Given the description of an element on the screen output the (x, y) to click on. 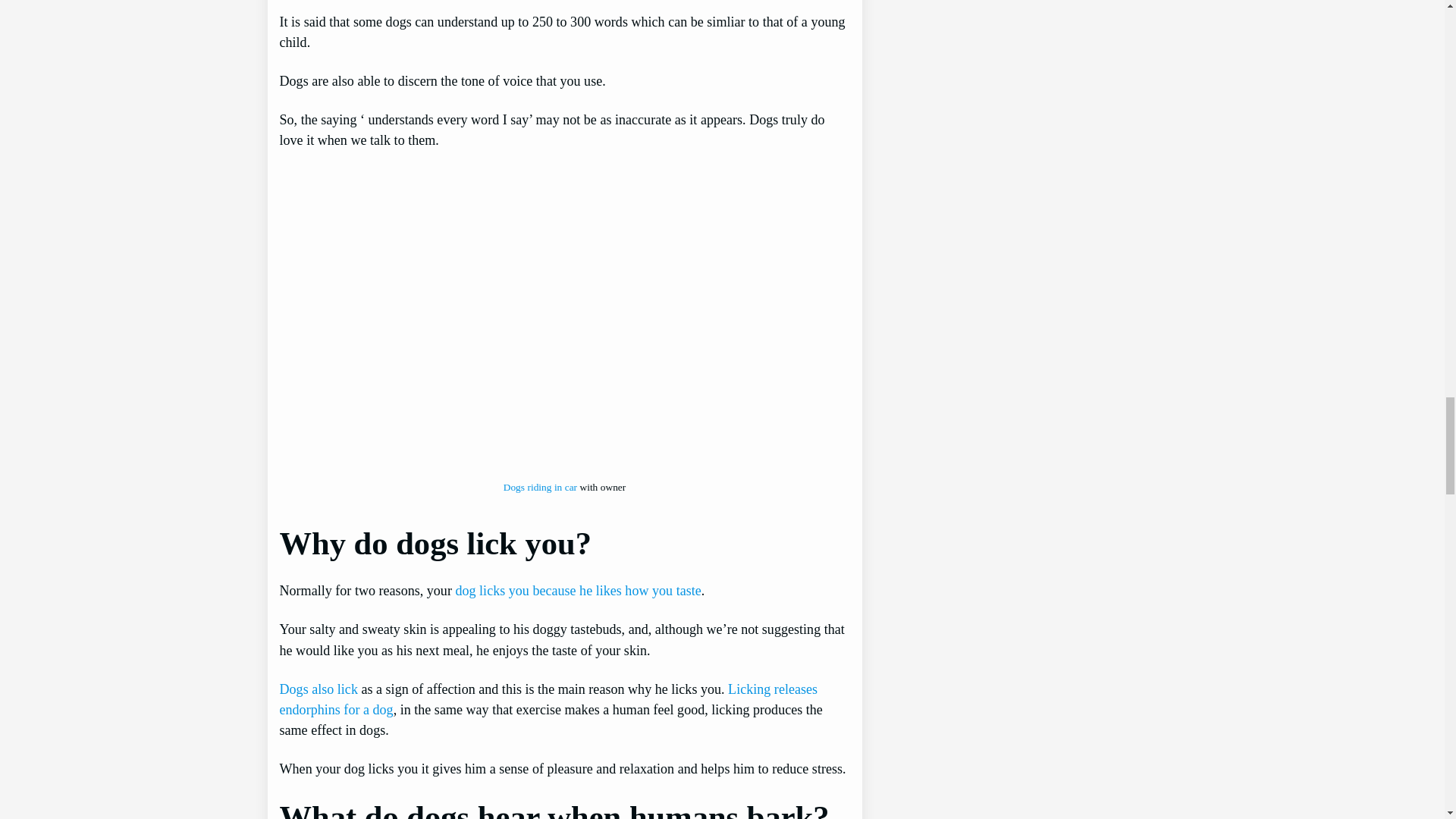
Licking releases endorphins for a dog (547, 699)
Dogs also lick (317, 688)
Dogs riding in car (539, 487)
dog licks you because he likes how you taste (577, 590)
